Given the description of an element on the screen output the (x, y) to click on. 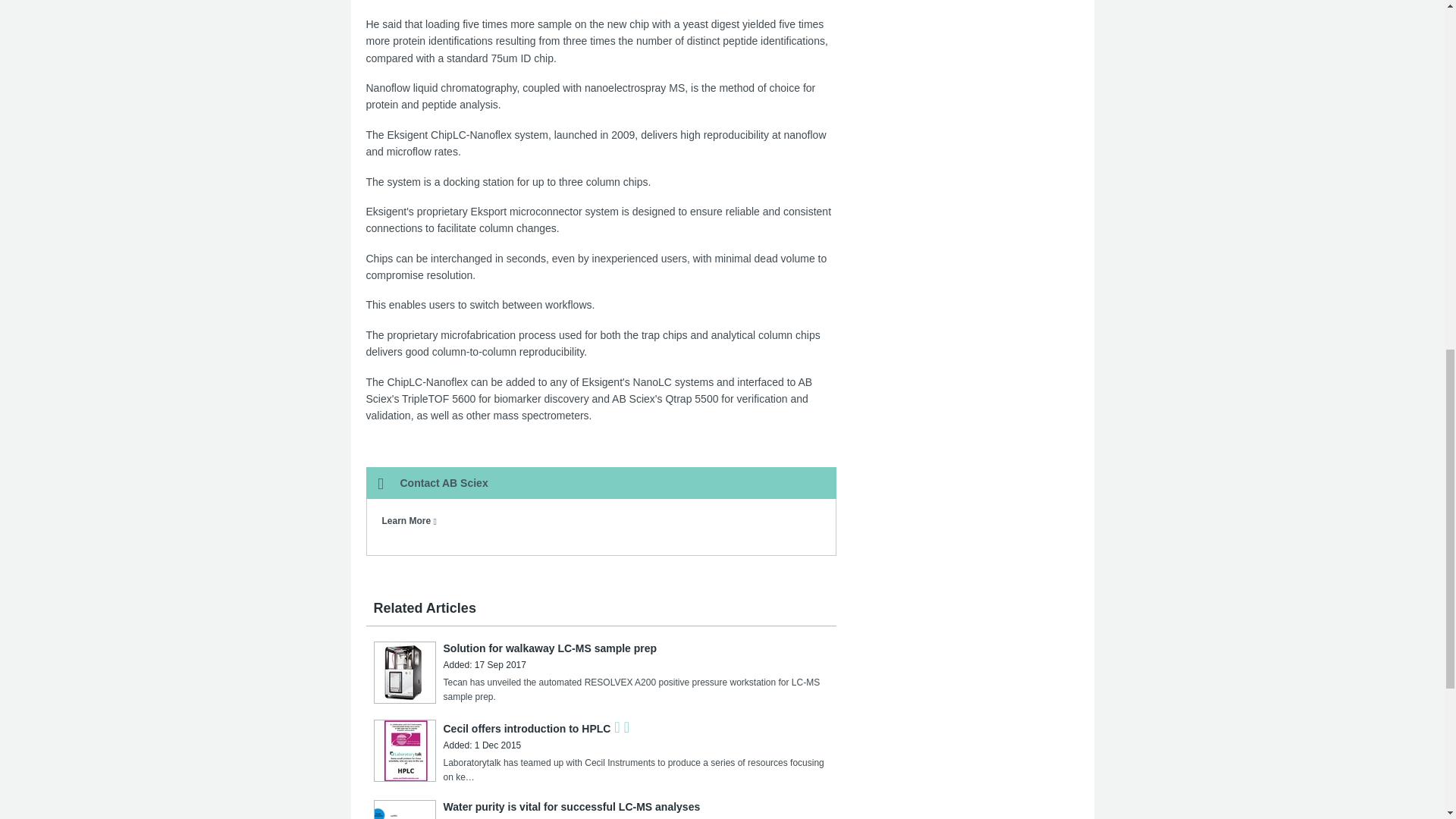
Cecil offers introduction to HPLC (526, 728)
Learn More (408, 520)
Solution for walkaway LC-MS sample prep (549, 648)
Water purity is vital for successful LC-MS analyses (571, 806)
